Given the description of an element on the screen output the (x, y) to click on. 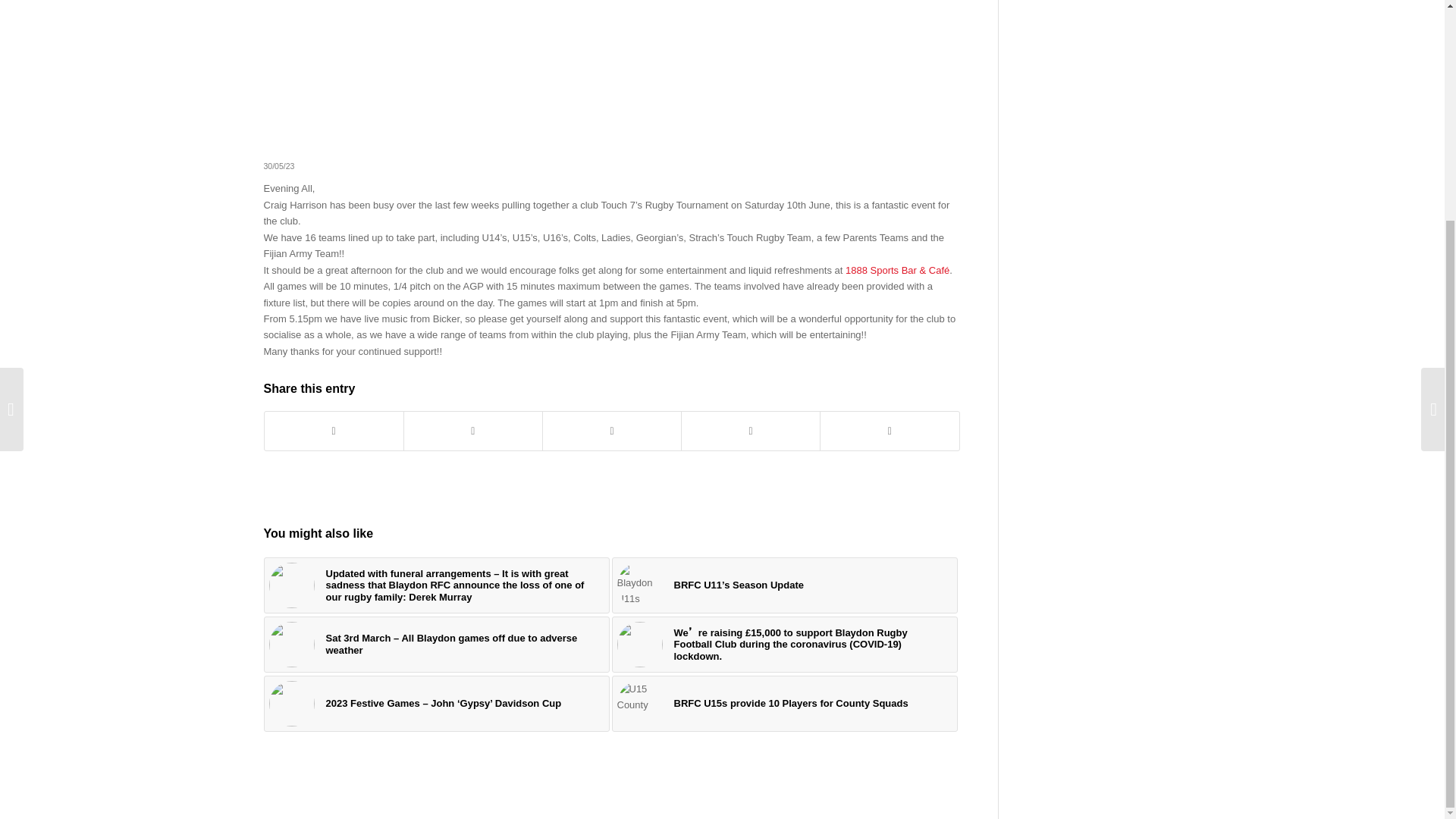
Touch Rugby Flyer (611, 62)
deepest sympathy (290, 585)
F7AE4D44-E2E7-41F3-83F7-3A5DCF4145A0 (290, 703)
D5482095-76B7-4198-A77F-735711328DF5 (290, 644)
BRFC U15s provide 10 Players for County Squads (783, 703)
